Given the description of an element on the screen output the (x, y) to click on. 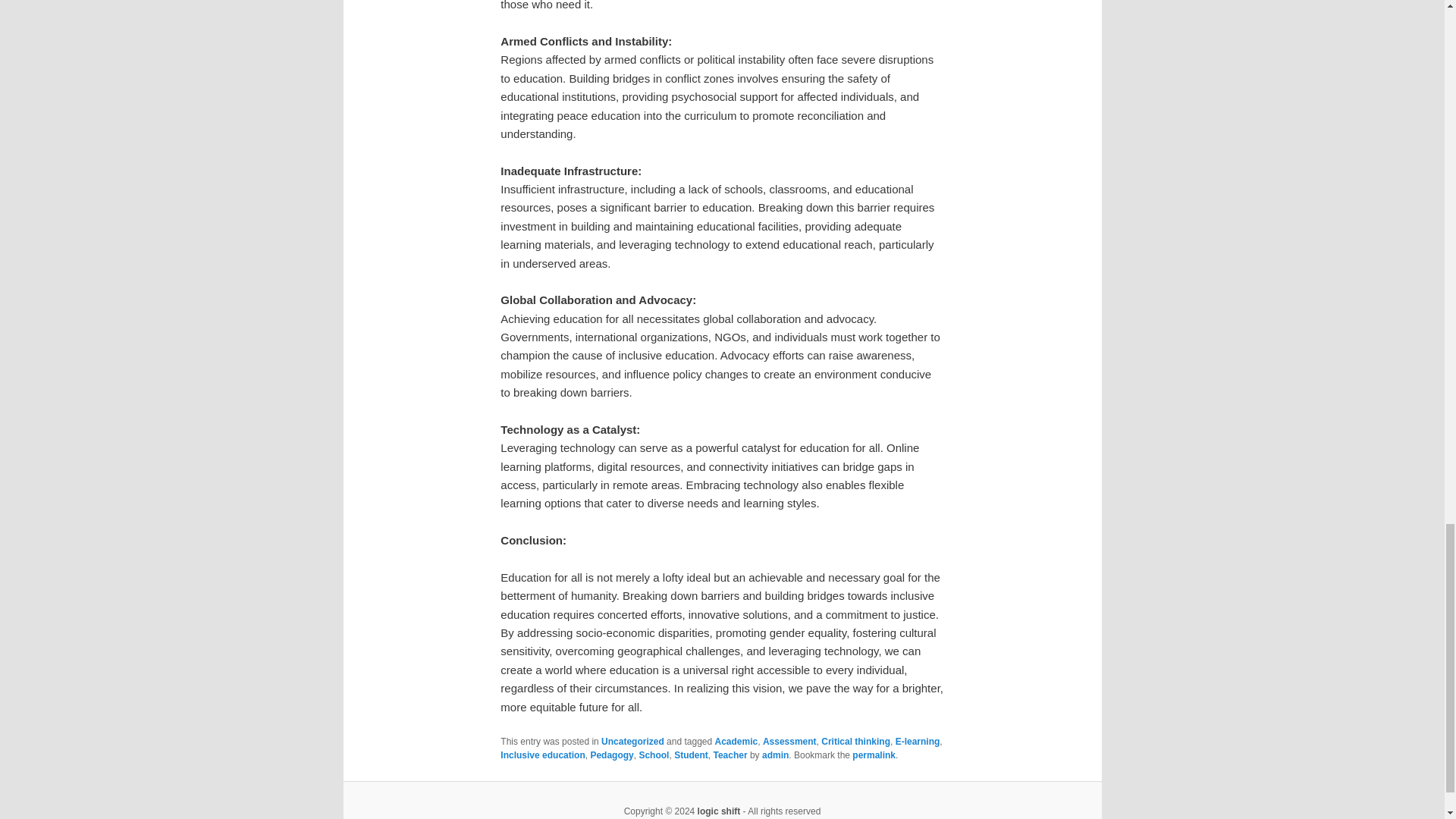
Student (690, 755)
Uncategorized (632, 741)
admin (775, 755)
permalink (873, 755)
School (653, 755)
Critical thinking (855, 741)
Teacher (729, 755)
Inclusive education (542, 755)
View all posts in Uncategorized (632, 741)
logic shift (719, 810)
E-learning (917, 741)
logic shift (719, 810)
Academic (736, 741)
Assessment (789, 741)
